Given the description of an element on the screen output the (x, y) to click on. 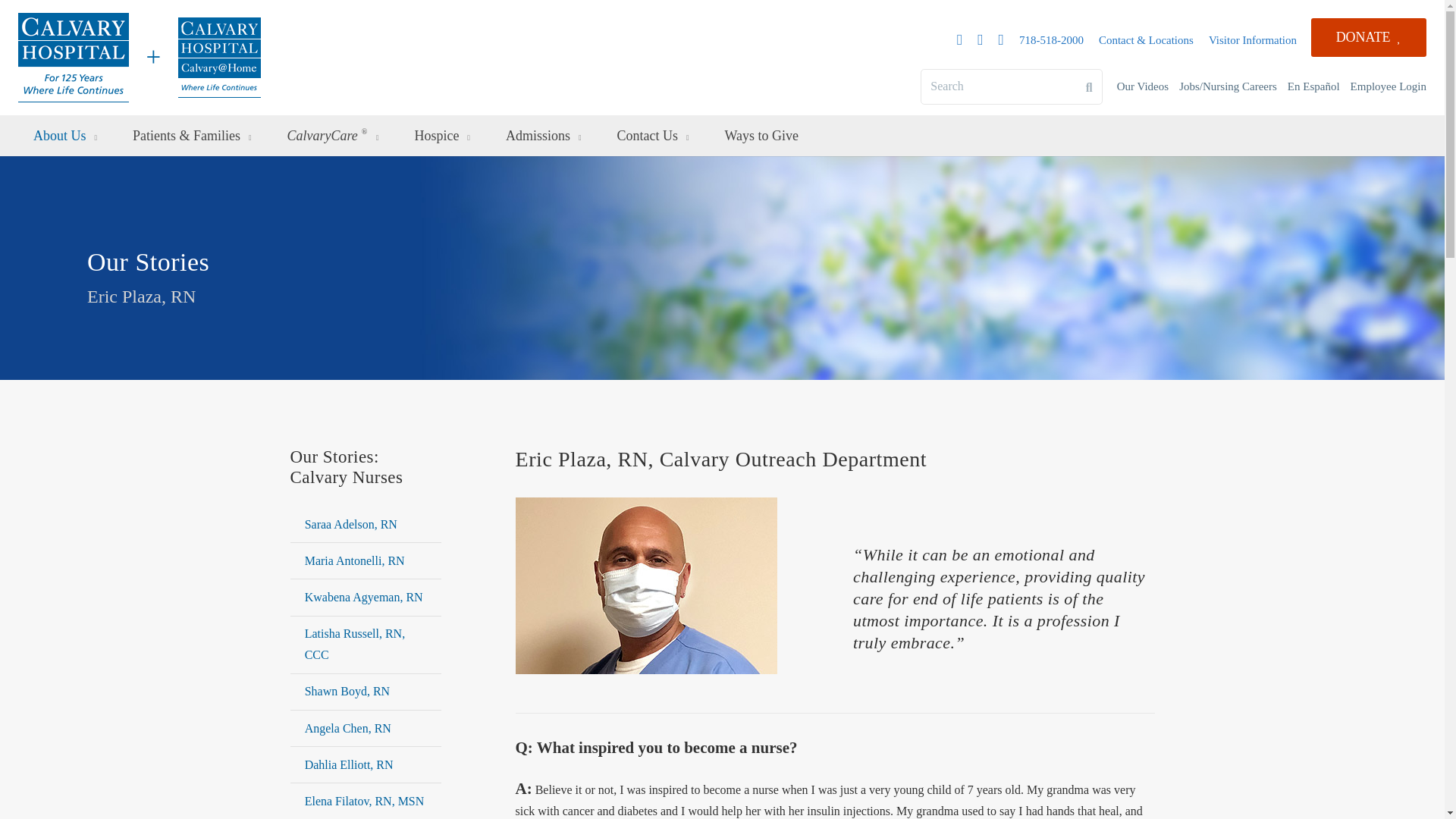
About Us   (66, 135)
Our Videos (1142, 86)
DONATE (1368, 37)
Employee Login (1388, 86)
Visitor Information (1252, 39)
718-518-2000 (1051, 39)
